Given the description of an element on the screen output the (x, y) to click on. 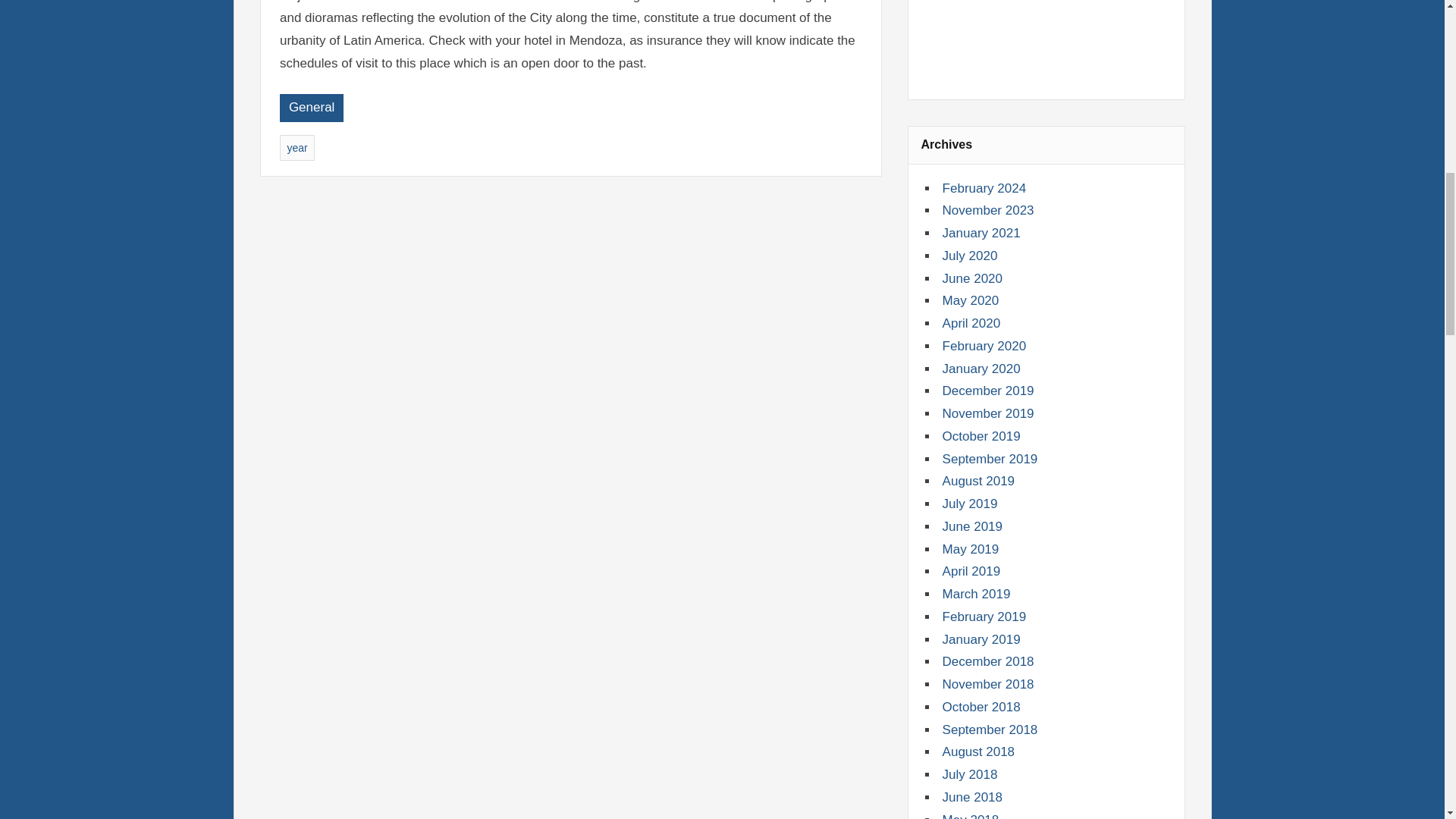
September 2019 (990, 459)
December 2018 (987, 661)
November 2018 (987, 684)
May 2020 (970, 300)
November 2019 (987, 413)
March 2019 (976, 594)
August 2019 (978, 481)
April 2019 (971, 571)
September 2018 (990, 729)
June 2019 (972, 526)
